Given the description of an element on the screen output the (x, y) to click on. 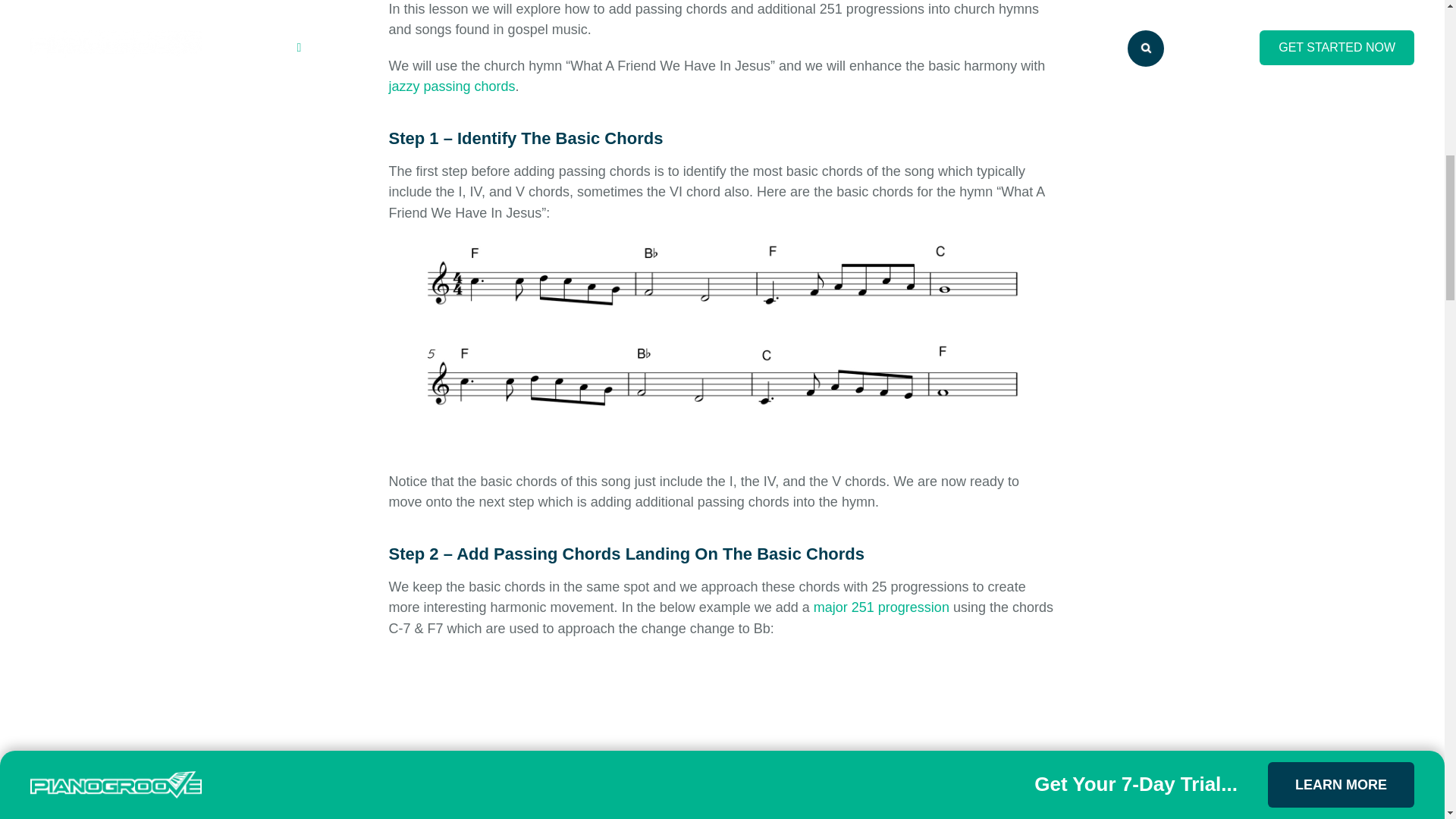
major 251 progression (881, 607)
jazzy passing chords (451, 86)
